Given the description of an element on the screen output the (x, y) to click on. 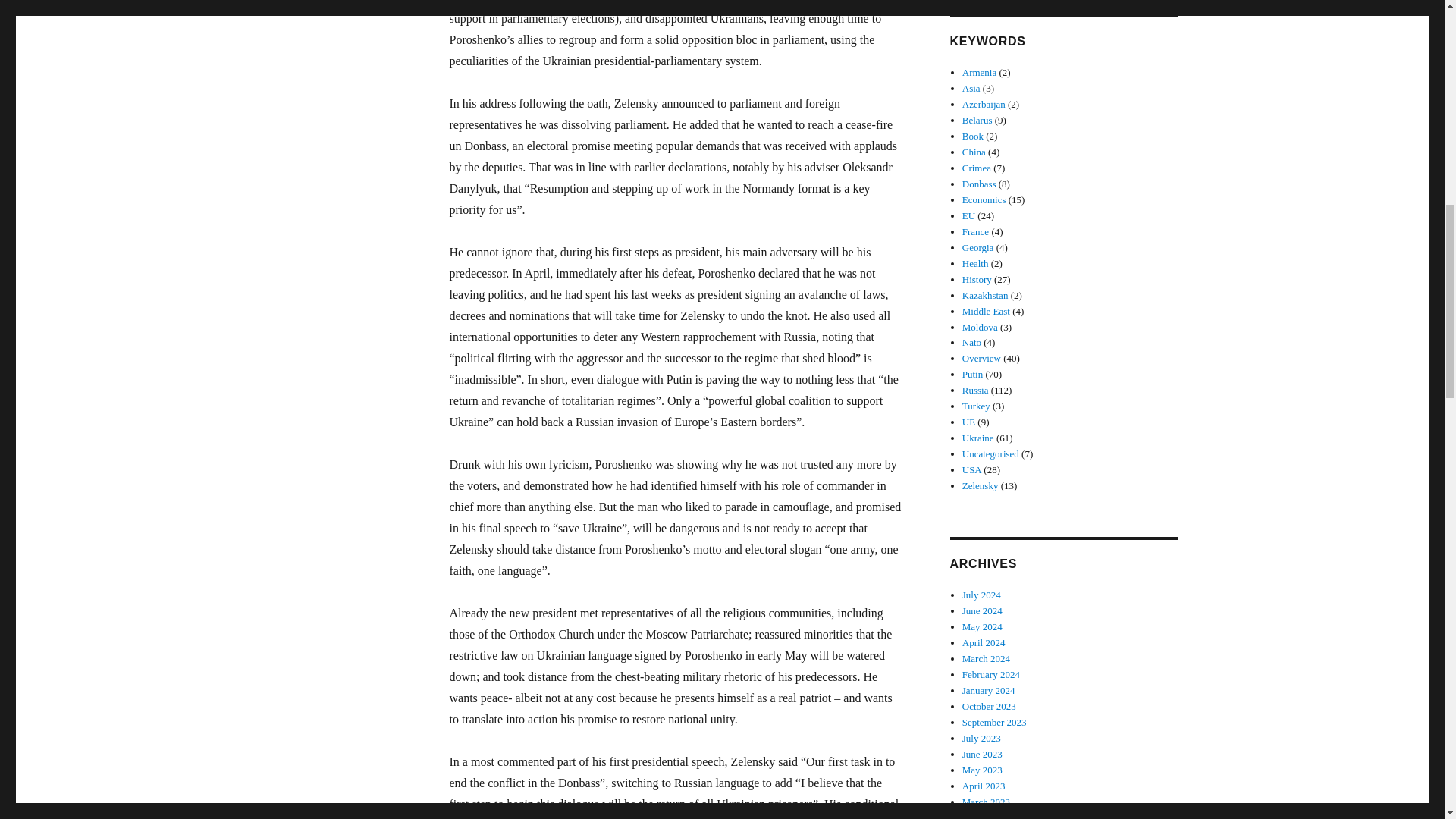
Crimea (976, 167)
Azerbaijan (984, 103)
Book (973, 135)
France (975, 231)
Economics (984, 199)
Donbass (978, 183)
Georgia (978, 247)
History (976, 279)
Middle East (986, 310)
Kazakhstan (985, 295)
China (973, 152)
Asia (970, 88)
Armenia (978, 71)
Health (975, 263)
EU (968, 215)
